Given the description of an element on the screen output the (x, y) to click on. 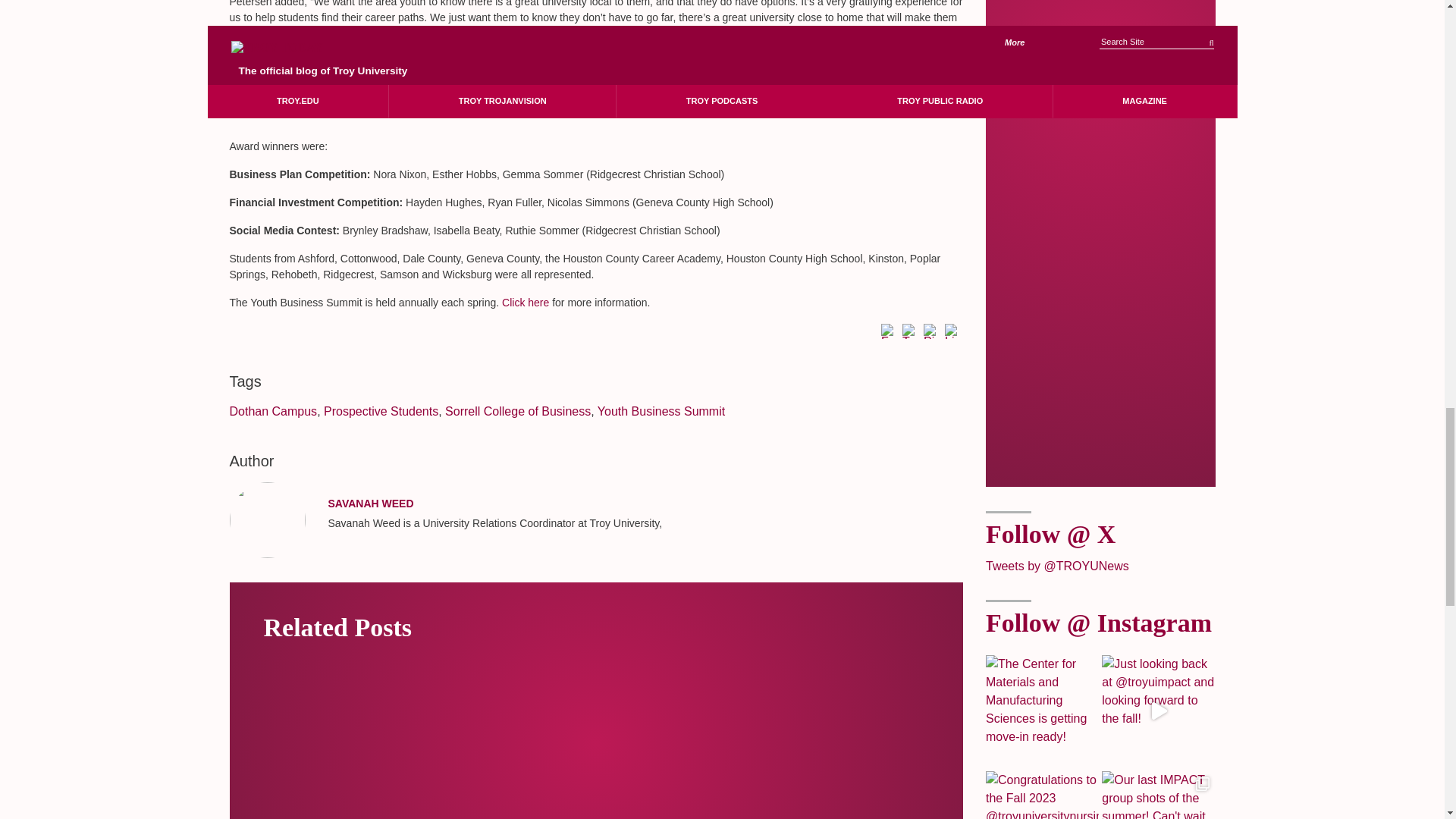
Twitter (909, 332)
Click here (525, 302)
Facebook (888, 332)
Dothan Campus (272, 410)
Sorrell College of Business (518, 410)
Prospective Students (380, 410)
